Given the description of an element on the screen output the (x, y) to click on. 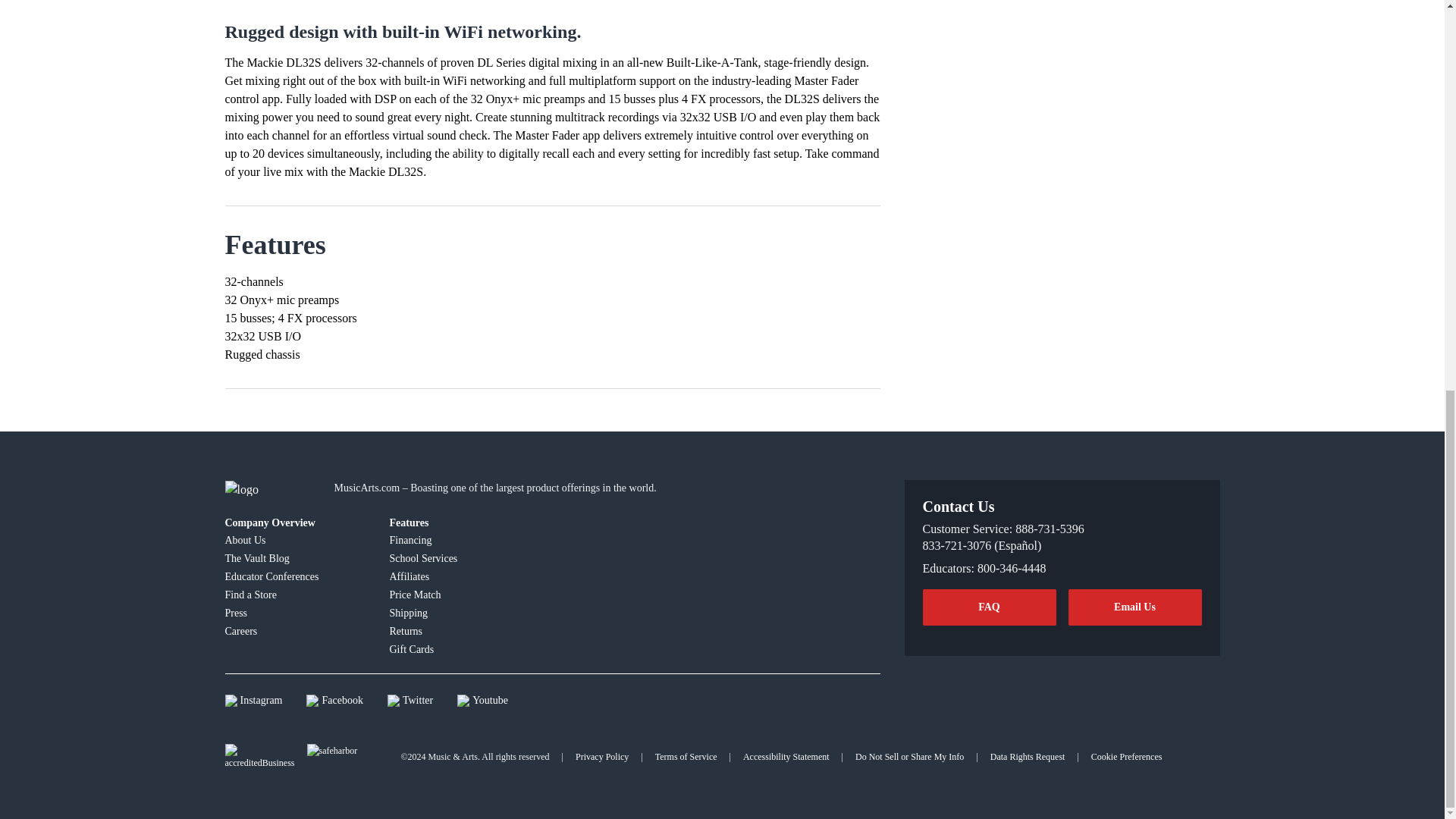
The Vault Blog (297, 557)
Twitter (409, 700)
Find a Store (297, 594)
Careers (297, 630)
School Services (462, 557)
Educator Conferences (297, 576)
Shipping (462, 612)
Price Match (462, 594)
Press (297, 612)
Gift Cards (462, 648)
Facebook (333, 700)
Financing (462, 539)
About Us (297, 539)
Instagram (253, 700)
Affiliates (462, 576)
